Given the description of an element on the screen output the (x, y) to click on. 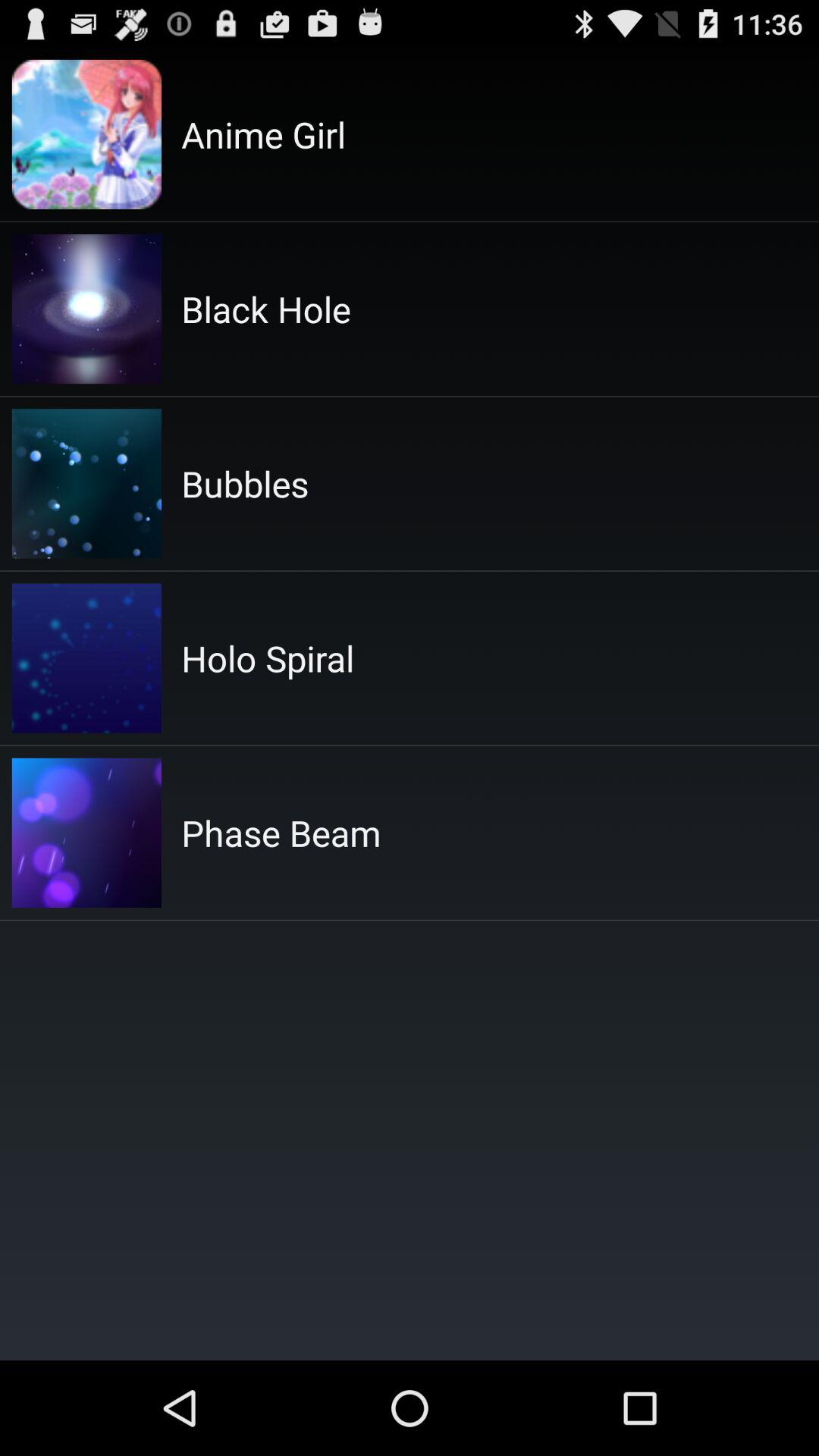
turn off the item above the bubbles item (265, 308)
